Given the description of an element on the screen output the (x, y) to click on. 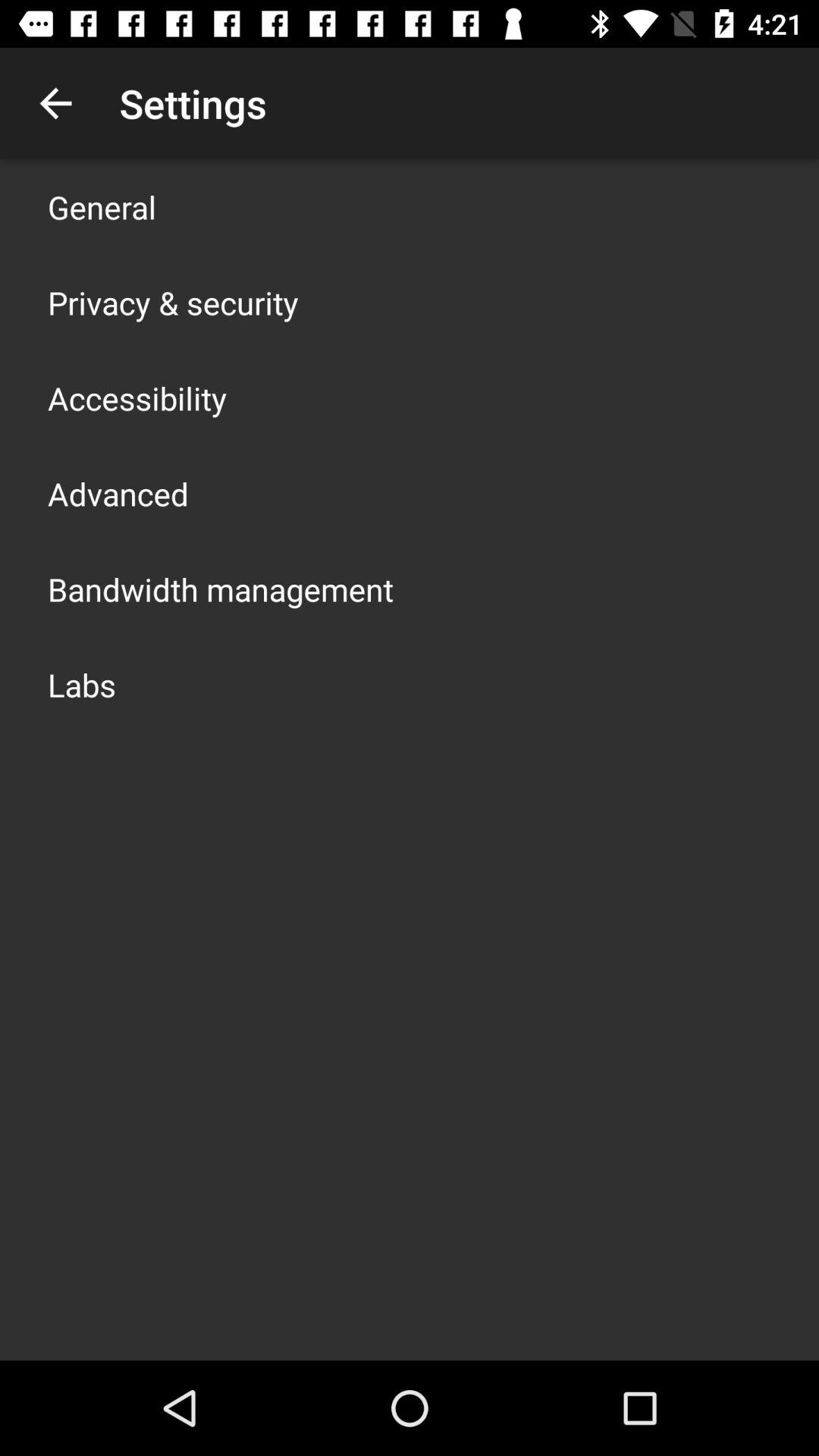
launch the item below the general app (172, 302)
